Given the description of an element on the screen output the (x, y) to click on. 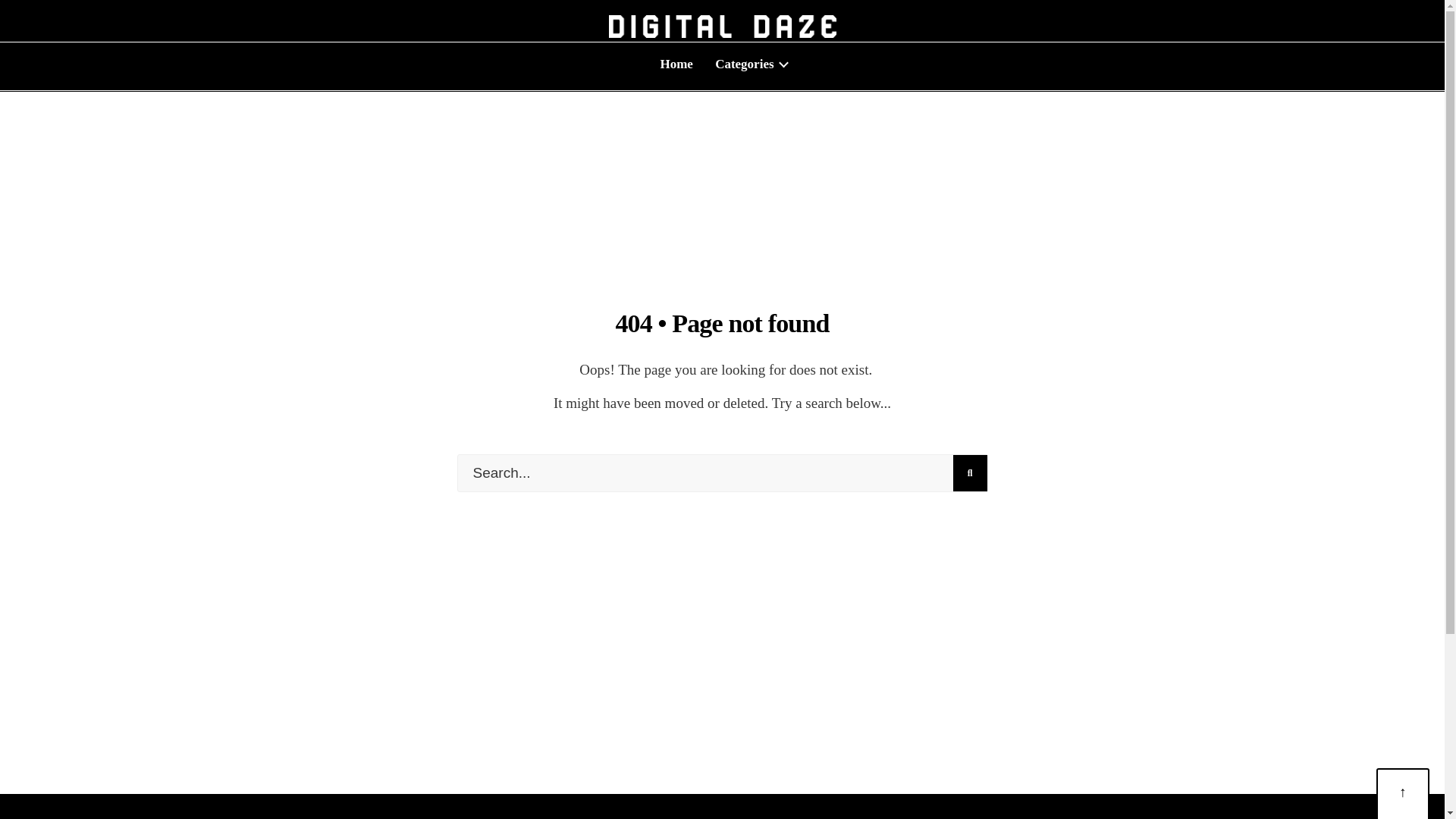
Scroll to top (1402, 794)
Search... (722, 473)
Home (676, 63)
Categories (749, 63)
